Given the description of an element on the screen output the (x, y) to click on. 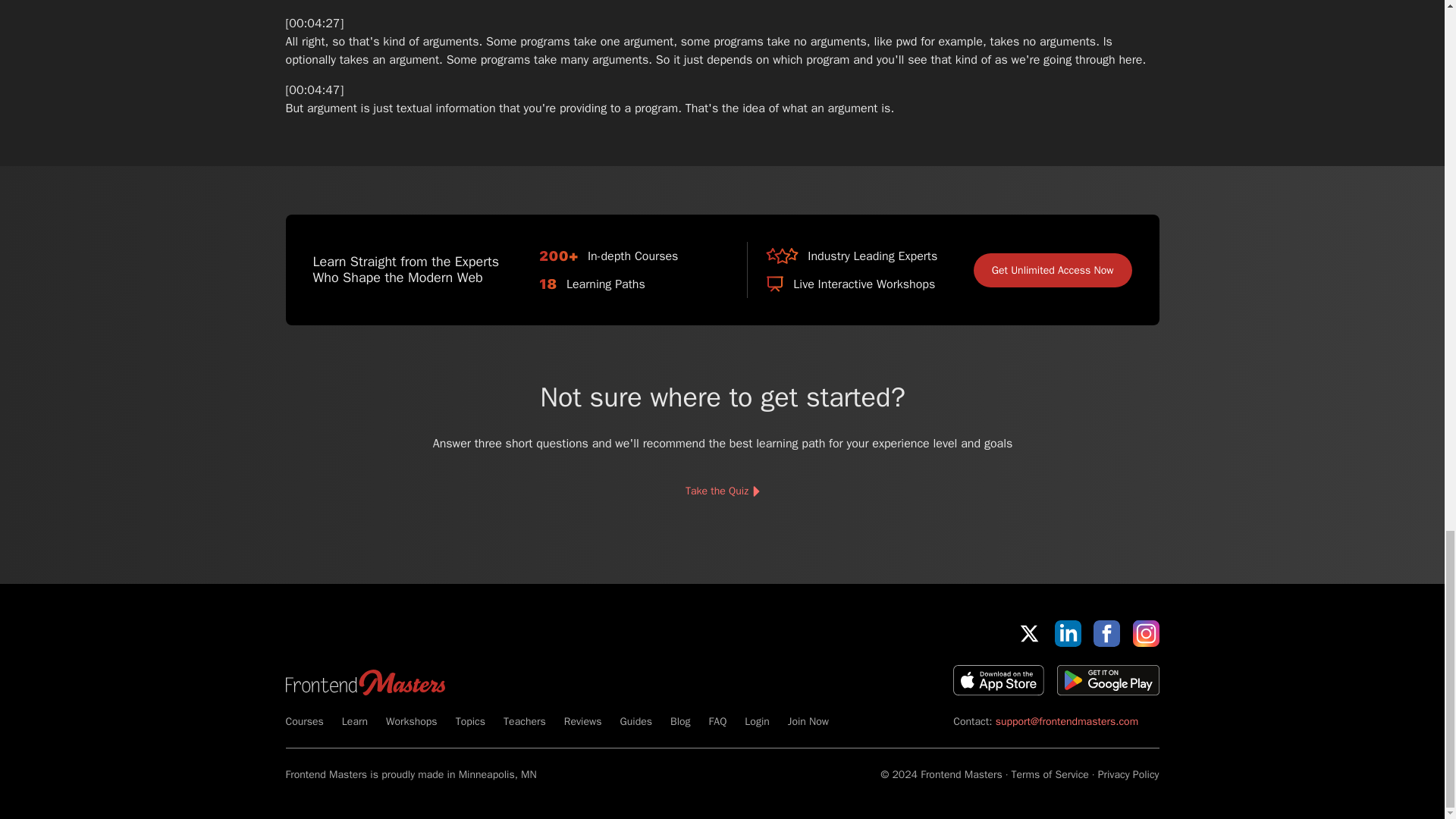
Get Unlimited Access Now (1053, 270)
Topics (469, 721)
Courses (304, 721)
Google App Store (1107, 680)
Learn (355, 721)
Reviews (583, 721)
Workshops (411, 721)
Login (756, 721)
Facebook (1106, 633)
FAQ (717, 721)
Teachers (524, 721)
Guides (636, 721)
Instagram (1145, 633)
Blog (679, 721)
Apple App Store (998, 680)
